Given the description of an element on the screen output the (x, y) to click on. 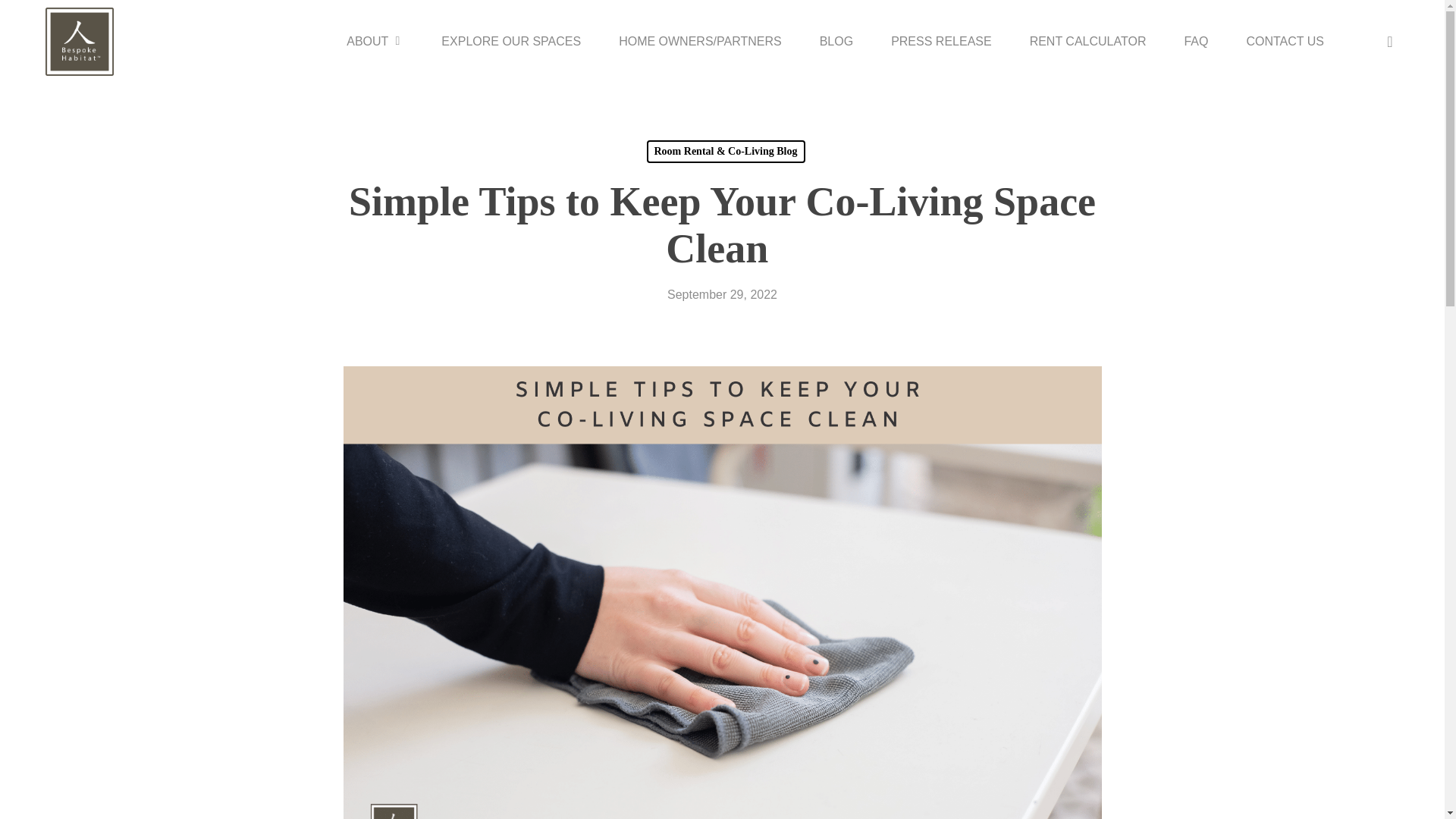
ABOUT (374, 41)
search (1389, 41)
PRESS RELEASE (941, 41)
EXPLORE OUR SPACES (510, 41)
FAQ (1195, 41)
RENT CALCULATOR (1088, 41)
BLOG (836, 41)
CONTACT US (1284, 41)
